Given the description of an element on the screen output the (x, y) to click on. 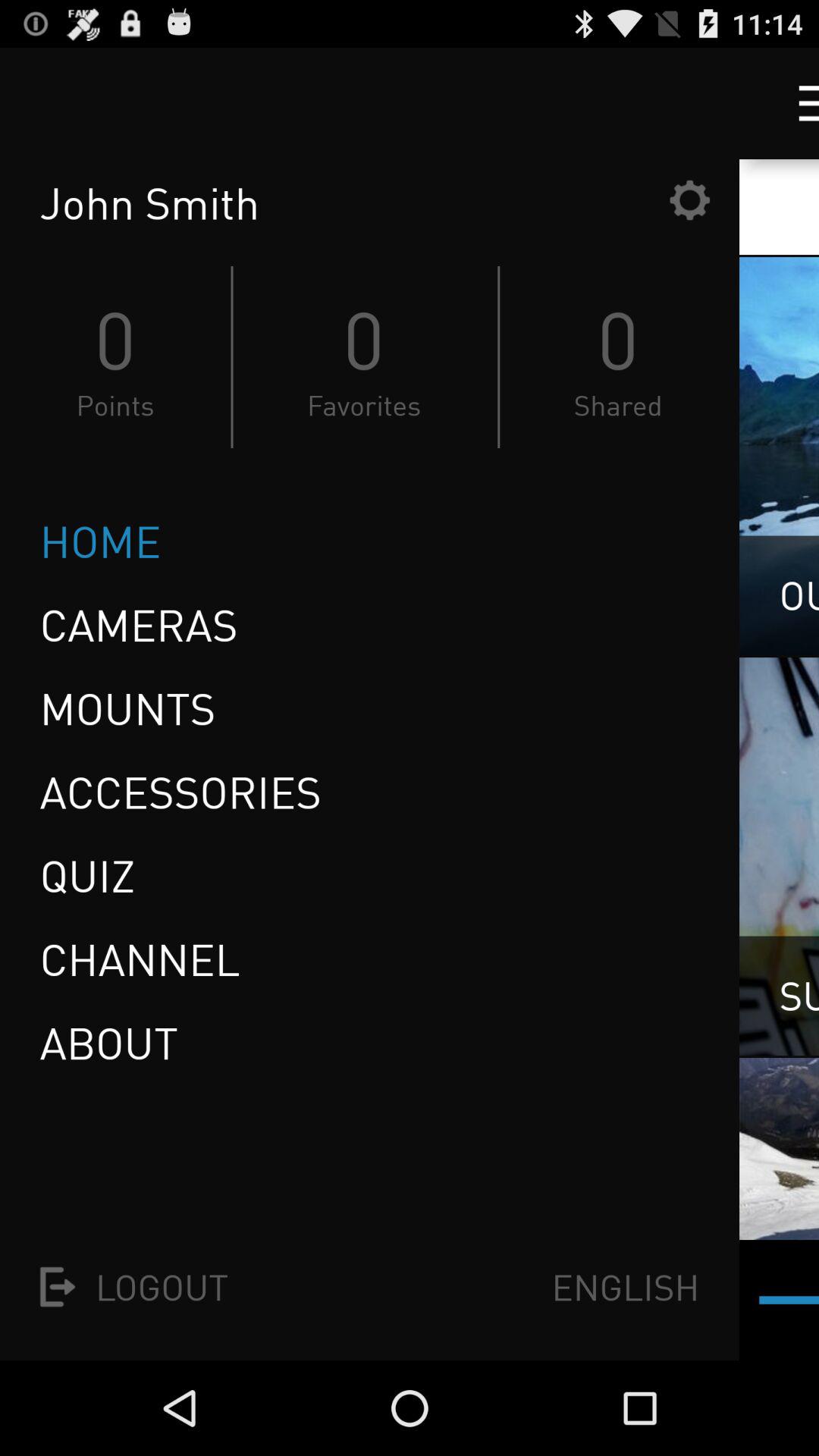
jump until the mounts (127, 708)
